Given the description of an element on the screen output the (x, y) to click on. 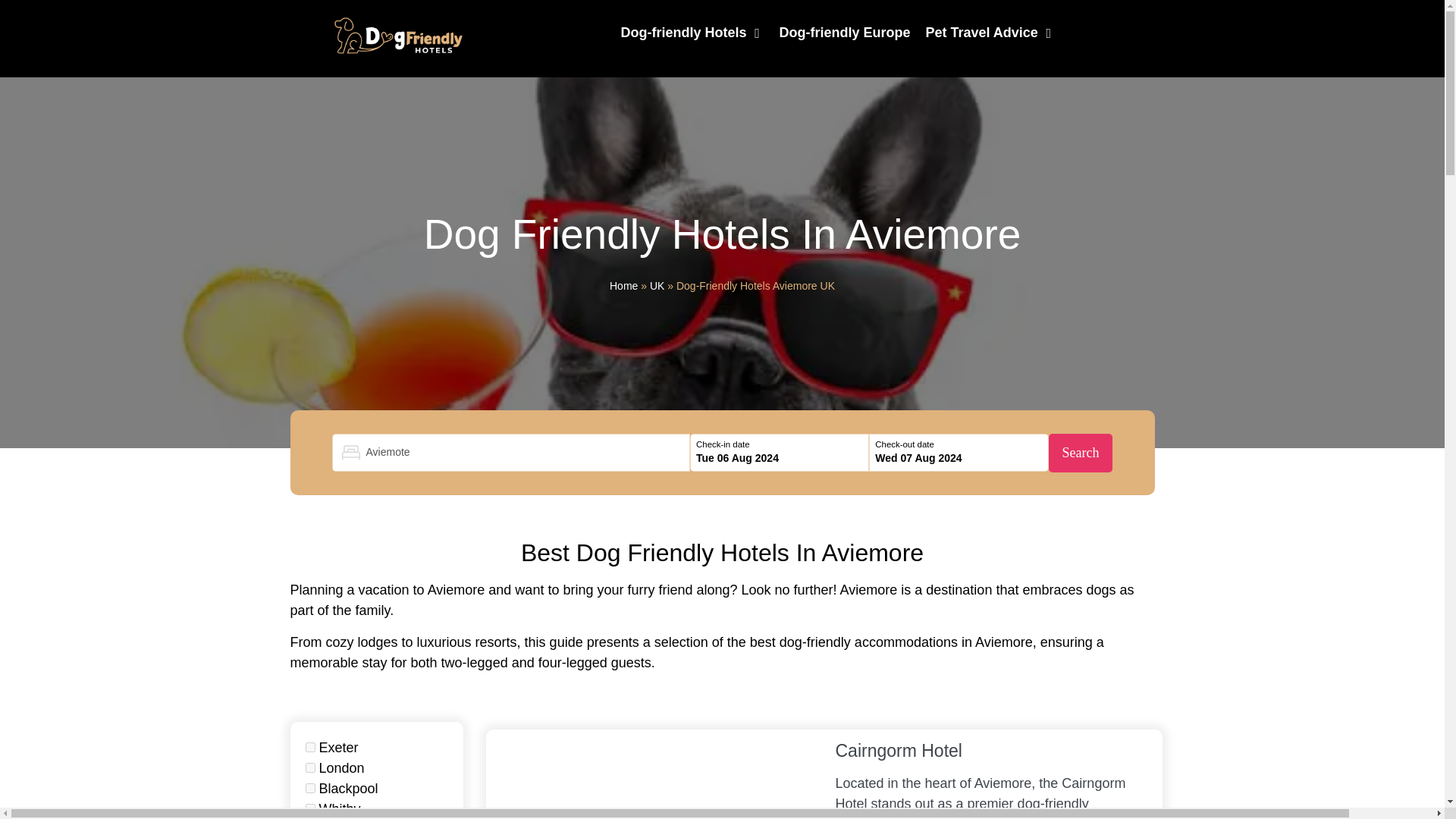
on (309, 787)
on (309, 767)
Pet Travel Advice (980, 32)
on (309, 747)
Dog-friendly Europe (844, 32)
Aviemote (510, 452)
on (309, 808)
Search (1080, 453)
